Given the description of an element on the screen output the (x, y) to click on. 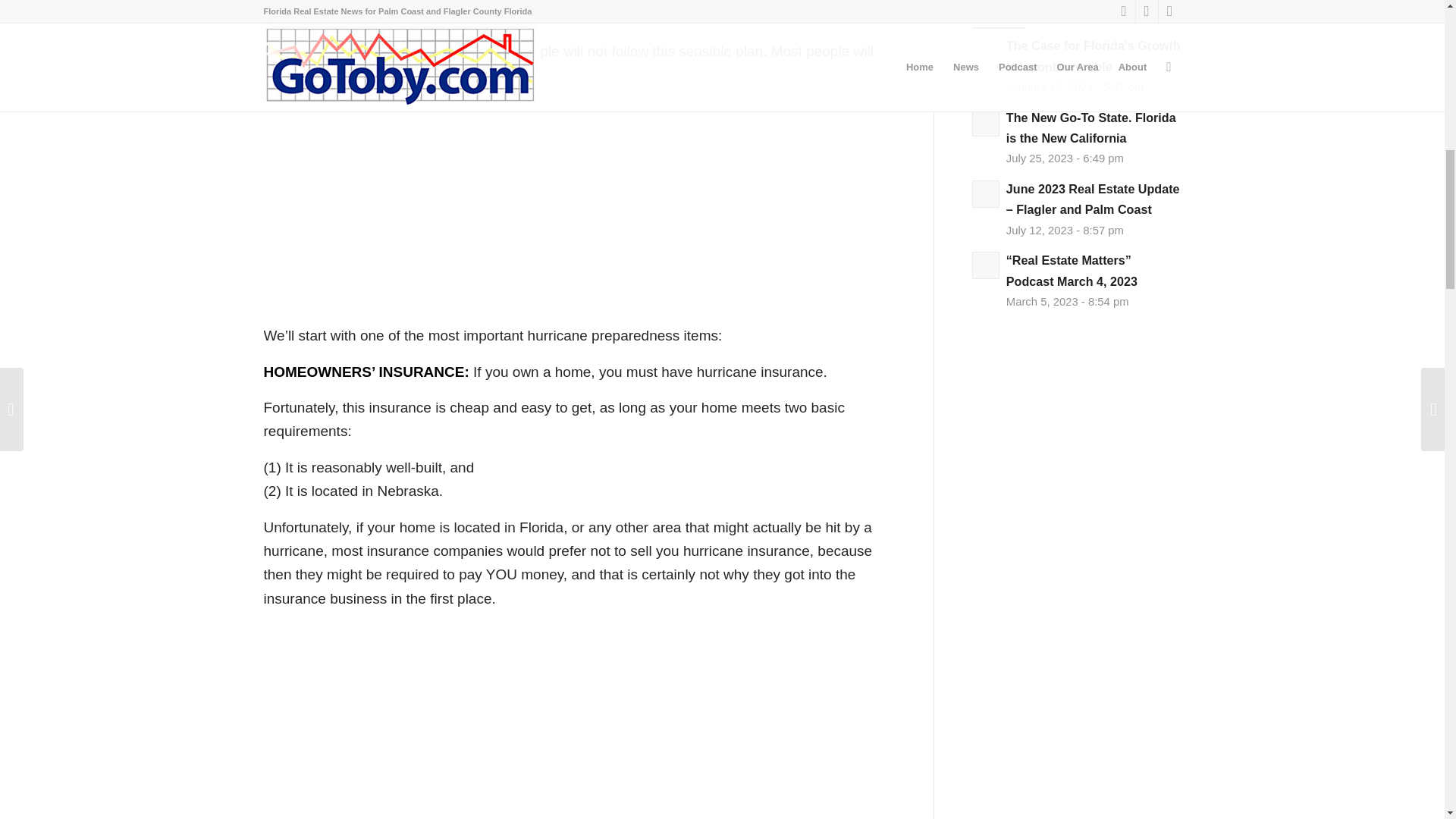
Advertisement (579, 720)
